Given the description of an element on the screen output the (x, y) to click on. 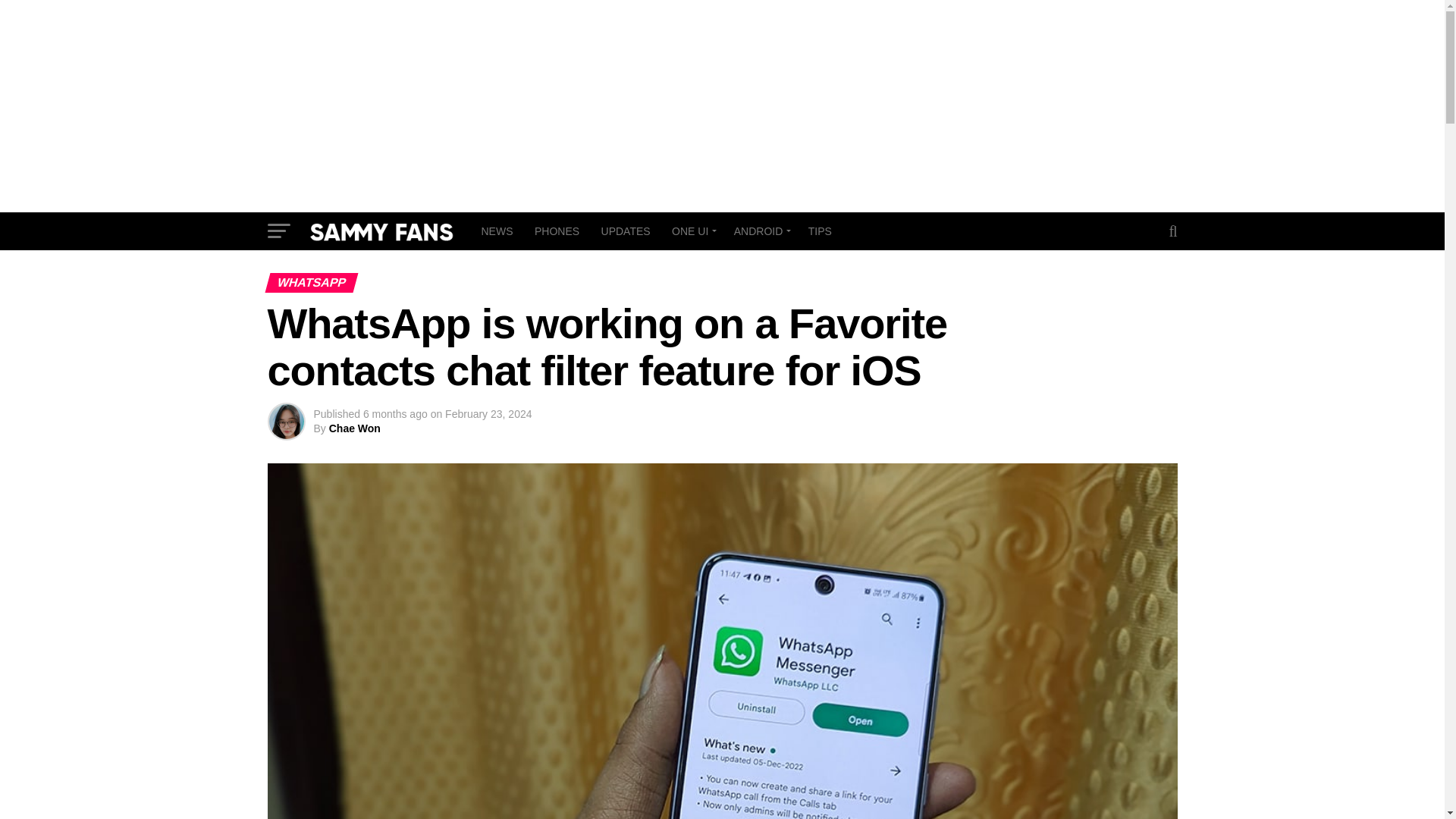
PHONES (556, 231)
Posts by Chae Won (354, 428)
UPDATES (625, 231)
ONE UI (691, 231)
NEWS (496, 231)
